Given the description of an element on the screen output the (x, y) to click on. 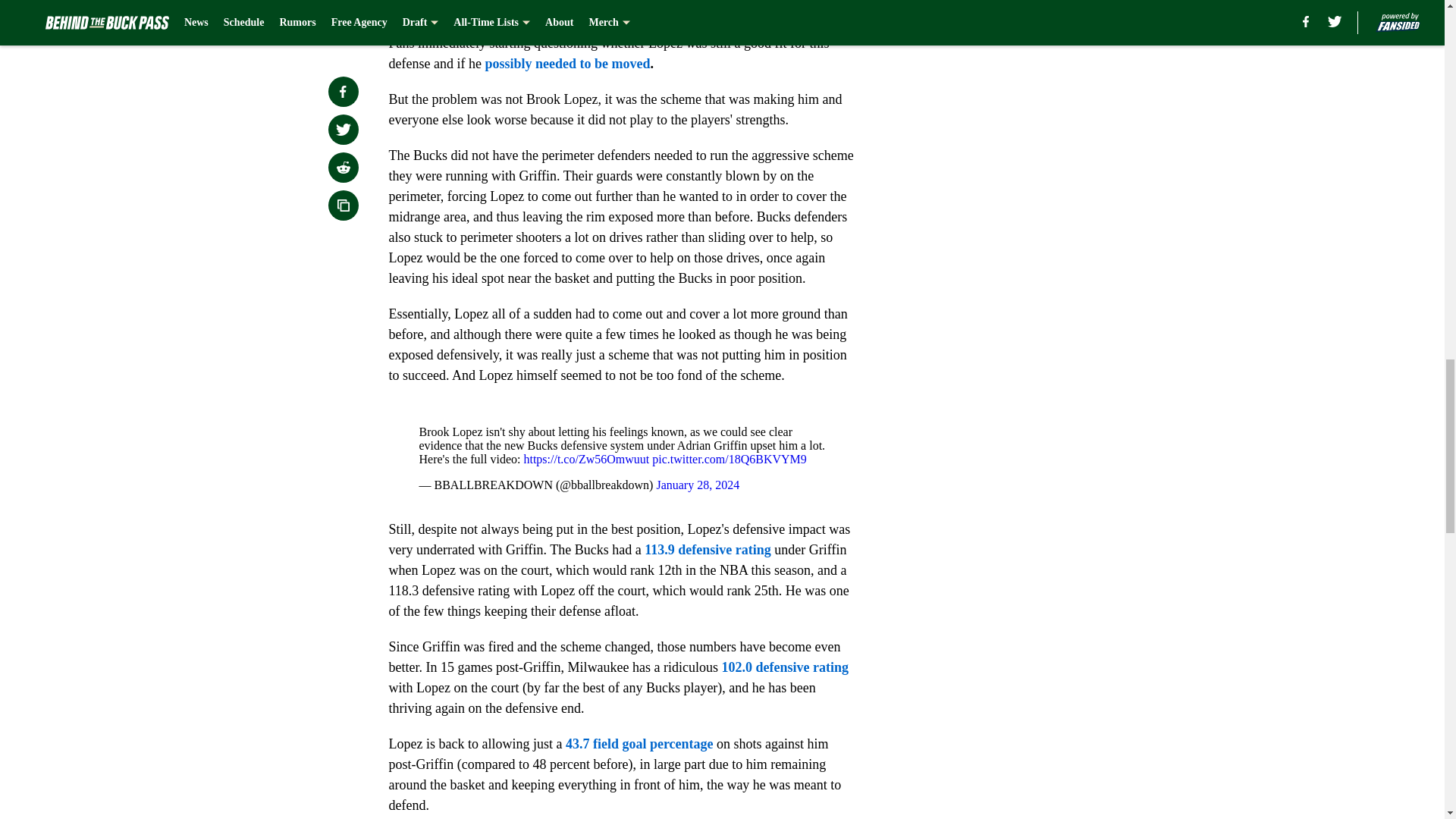
43.7 field goal percentage (639, 743)
102.0 defensive rating (785, 667)
113.9 defensive rating (708, 549)
possibly needed to be moved (566, 63)
January 28, 2024 (697, 484)
